Given the description of an element on the screen output the (x, y) to click on. 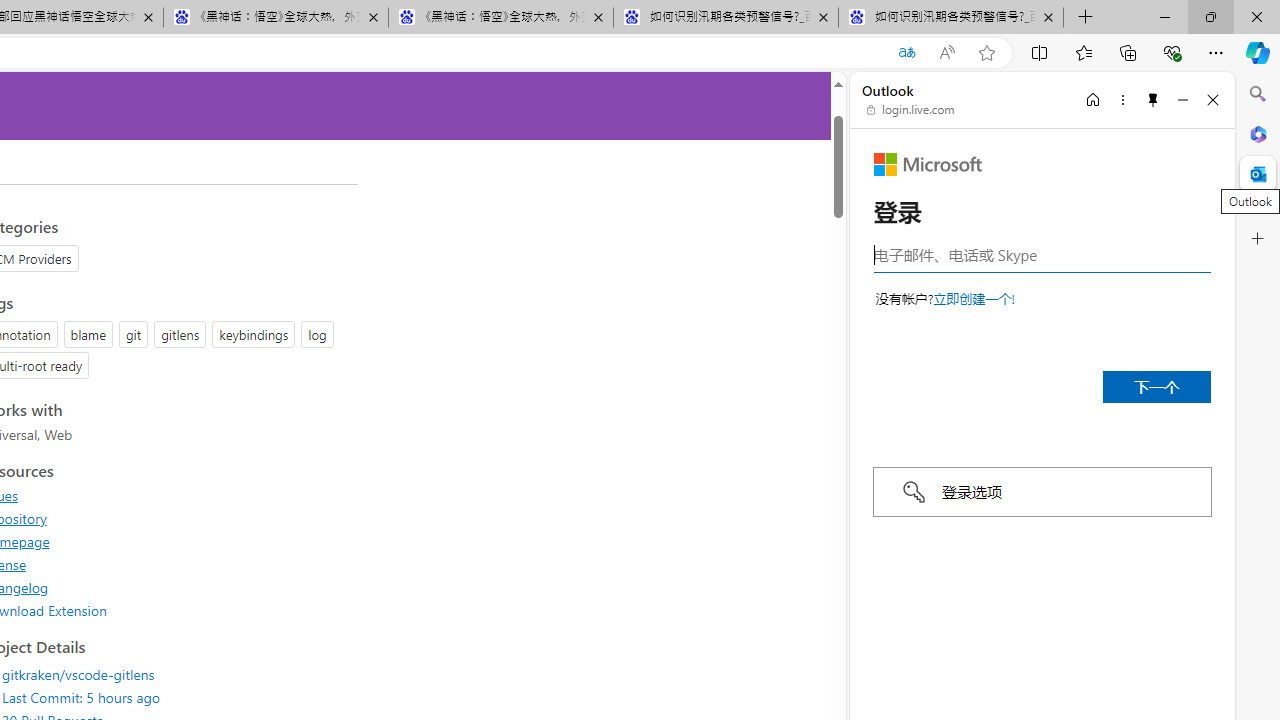
Translated (906, 53)
